Given the description of an element on the screen output the (x, y) to click on. 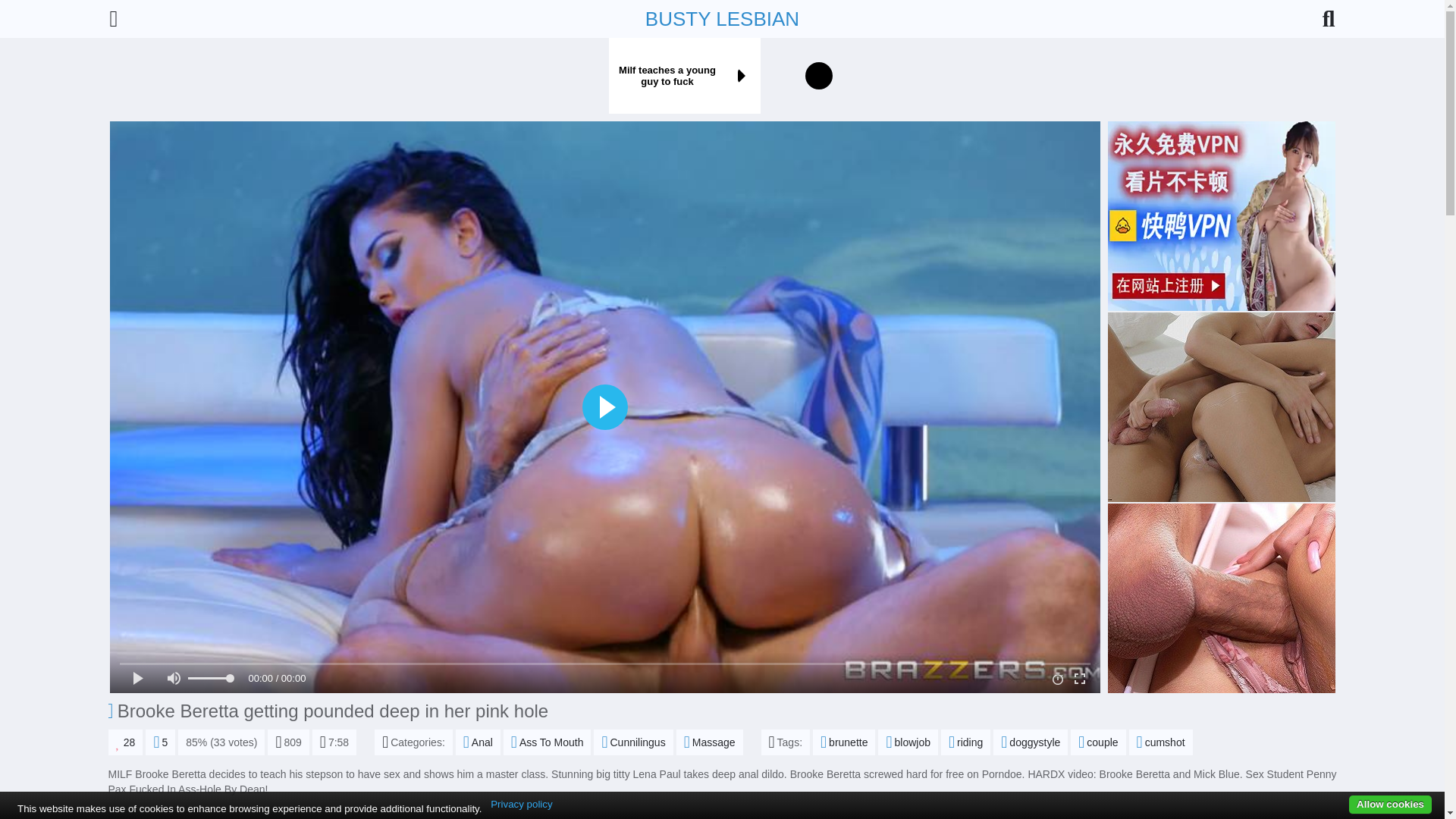
blowjob (907, 742)
doggystyle (1029, 742)
I Like It! (124, 742)
BUSTY LESBIAN (722, 18)
brunette (843, 742)
riding (965, 742)
5 (159, 742)
Massage (709, 742)
Anal (477, 742)
Cunnilingus (633, 742)
